Given the description of an element on the screen output the (x, y) to click on. 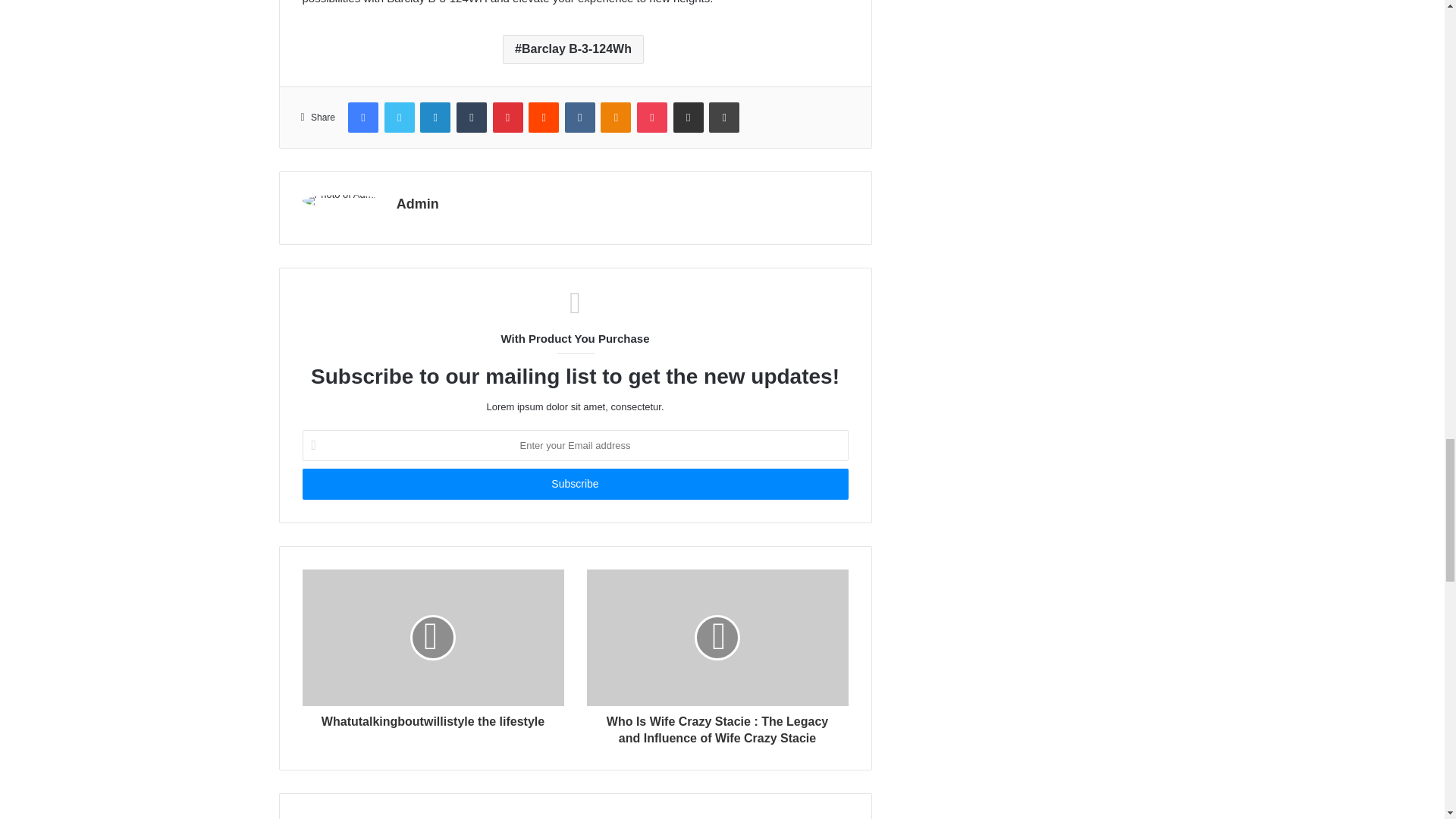
Subscribe (574, 483)
